Given the description of an element on the screen output the (x, y) to click on. 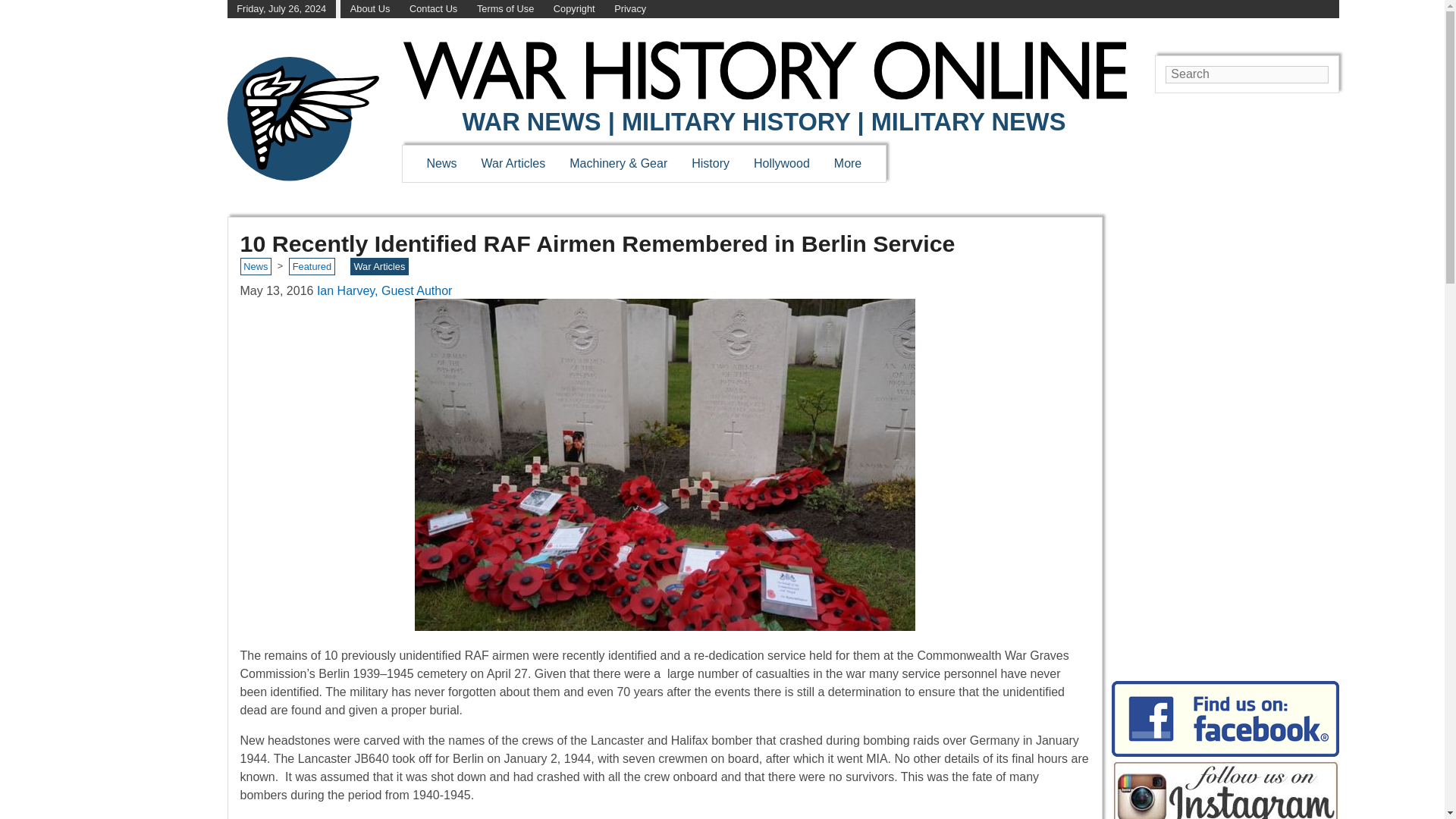
Contact Us (433, 8)
History (710, 163)
News (441, 163)
More (847, 163)
Copyright (574, 8)
Privacy (630, 8)
War Articles (513, 163)
About Us (370, 8)
Hollywood (781, 163)
Terms of Use (505, 8)
